Given the description of an element on the screen output the (x, y) to click on. 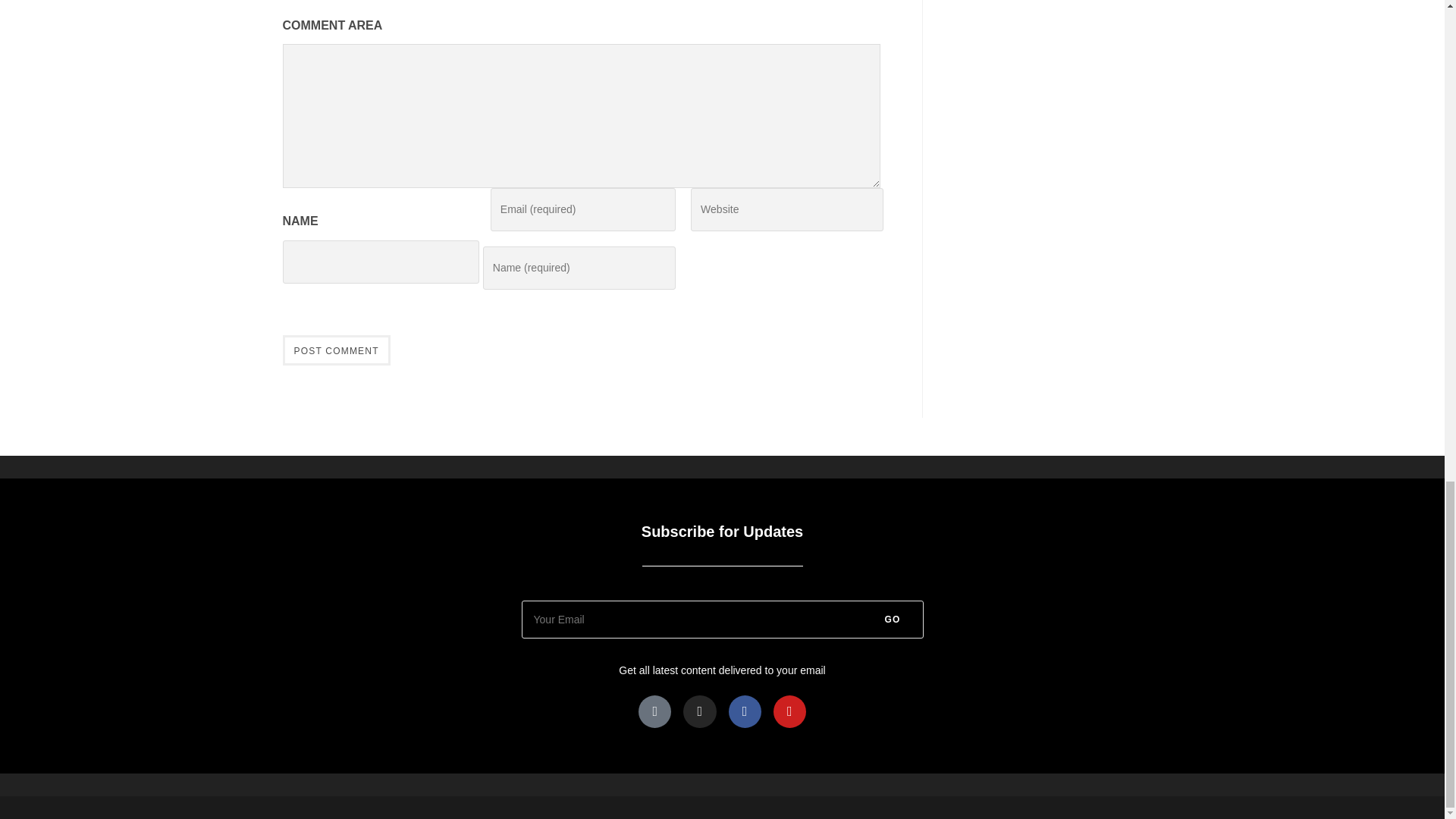
Post Comment (336, 349)
Post Comment (336, 349)
